Given the description of an element on the screen output the (x, y) to click on. 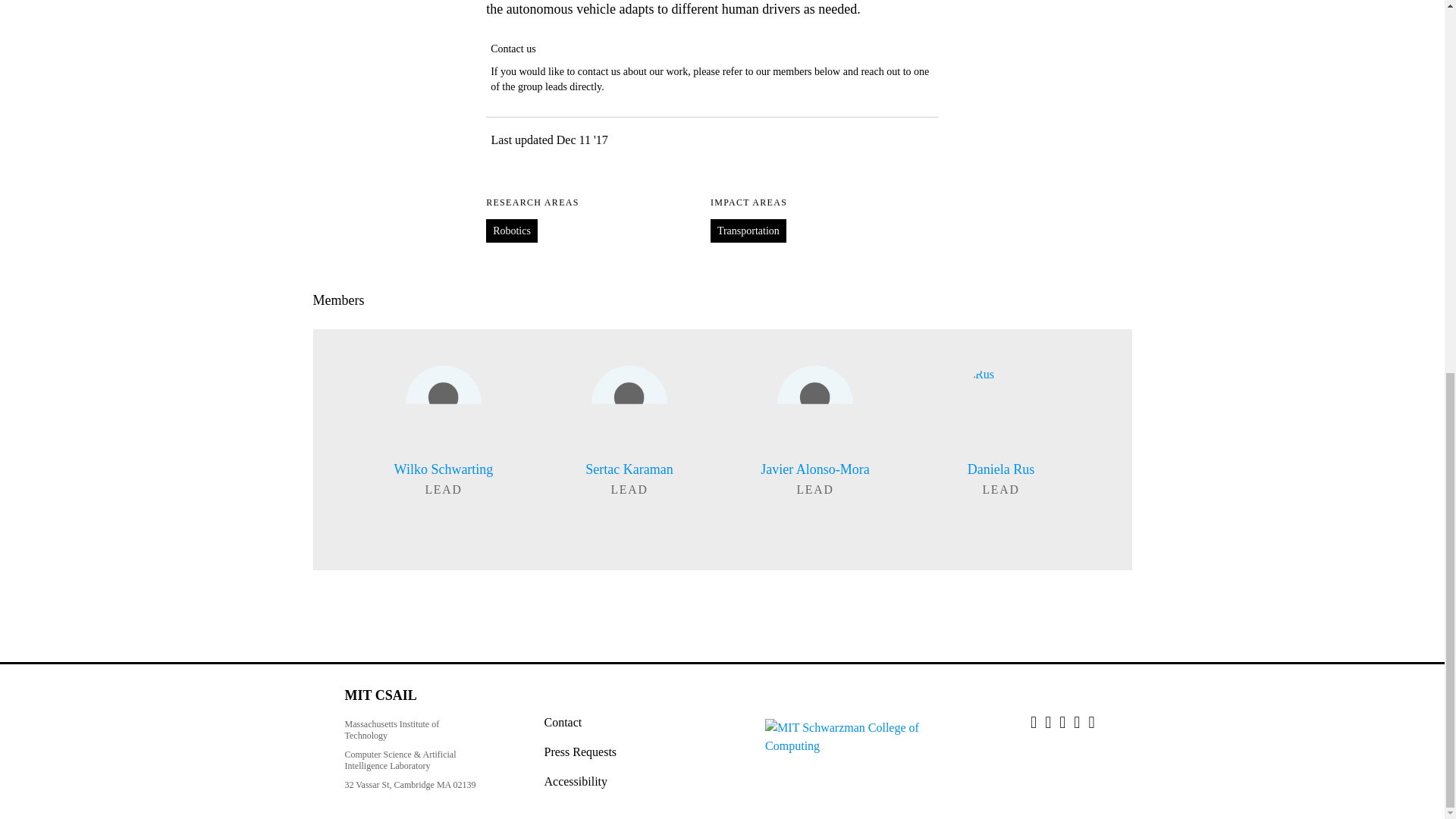
Transportation (747, 230)
Daniela Rus (1001, 428)
Robotics (512, 230)
Contact (563, 722)
Press Requests (580, 752)
Wilko Schwarting (442, 428)
